Given the description of an element on the screen output the (x, y) to click on. 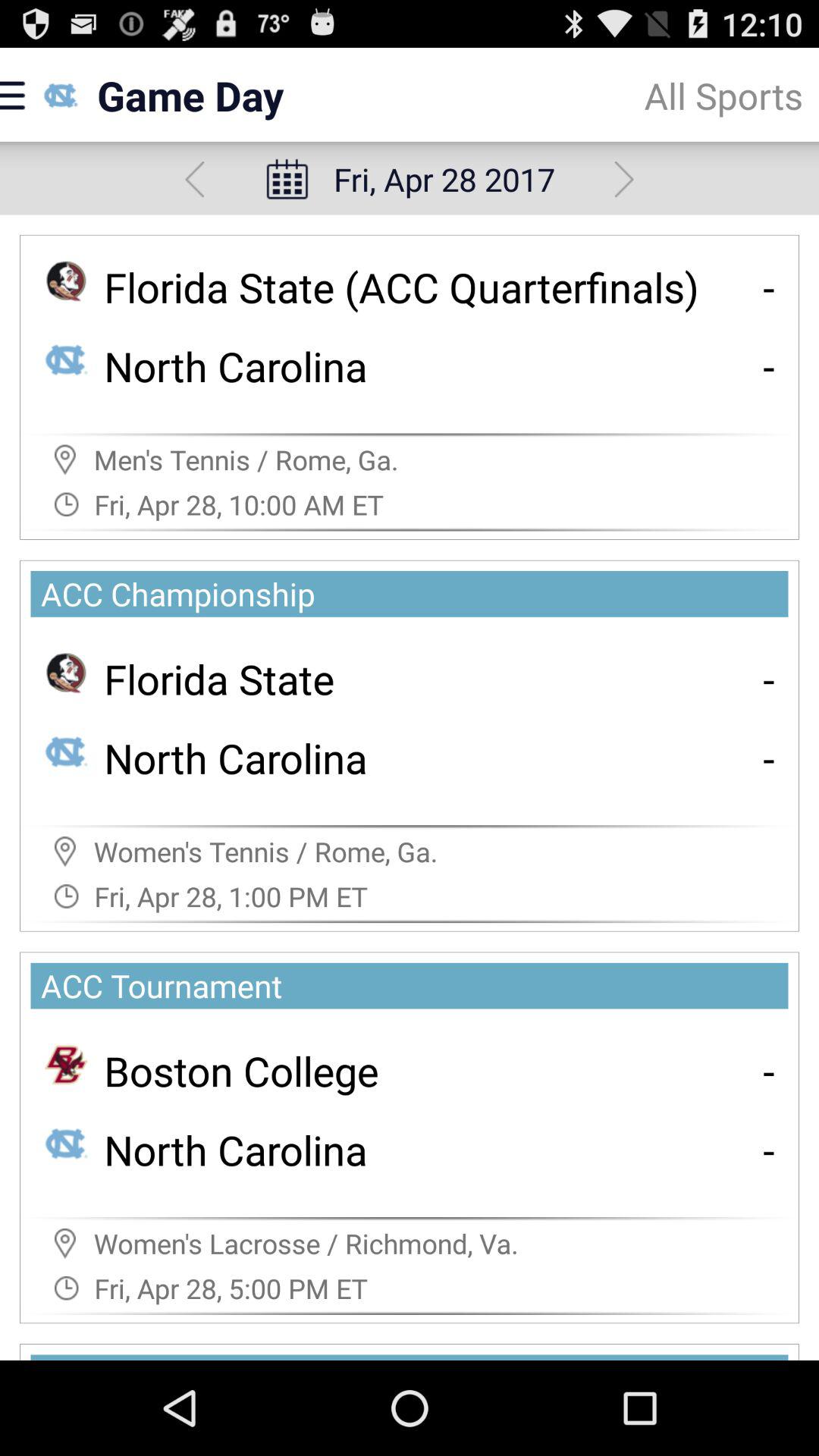
go one day back (194, 178)
